Given the description of an element on the screen output the (x, y) to click on. 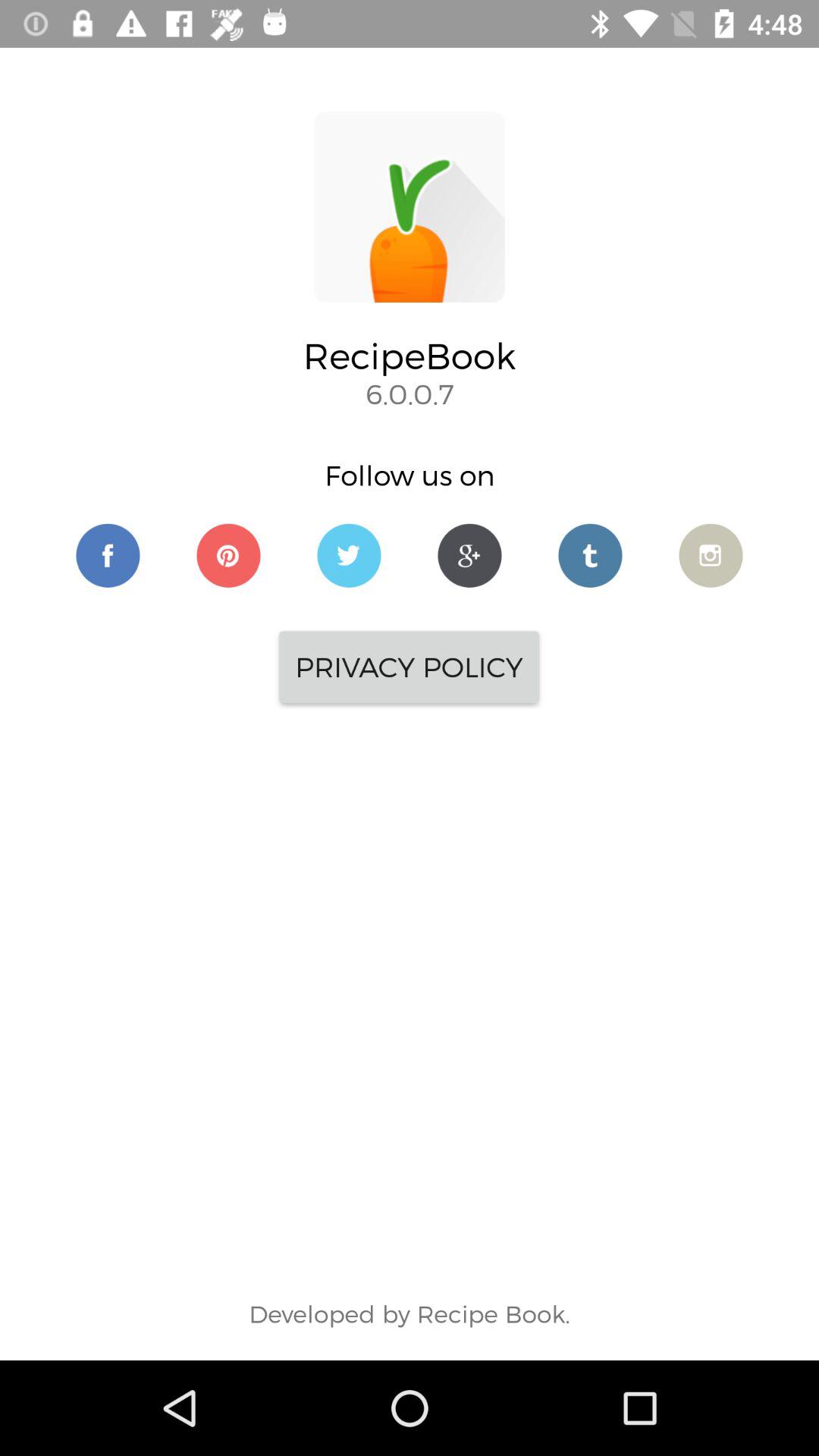
navigate to recipebook 's twitter page (348, 555)
